Given the description of an element on the screen output the (x, y) to click on. 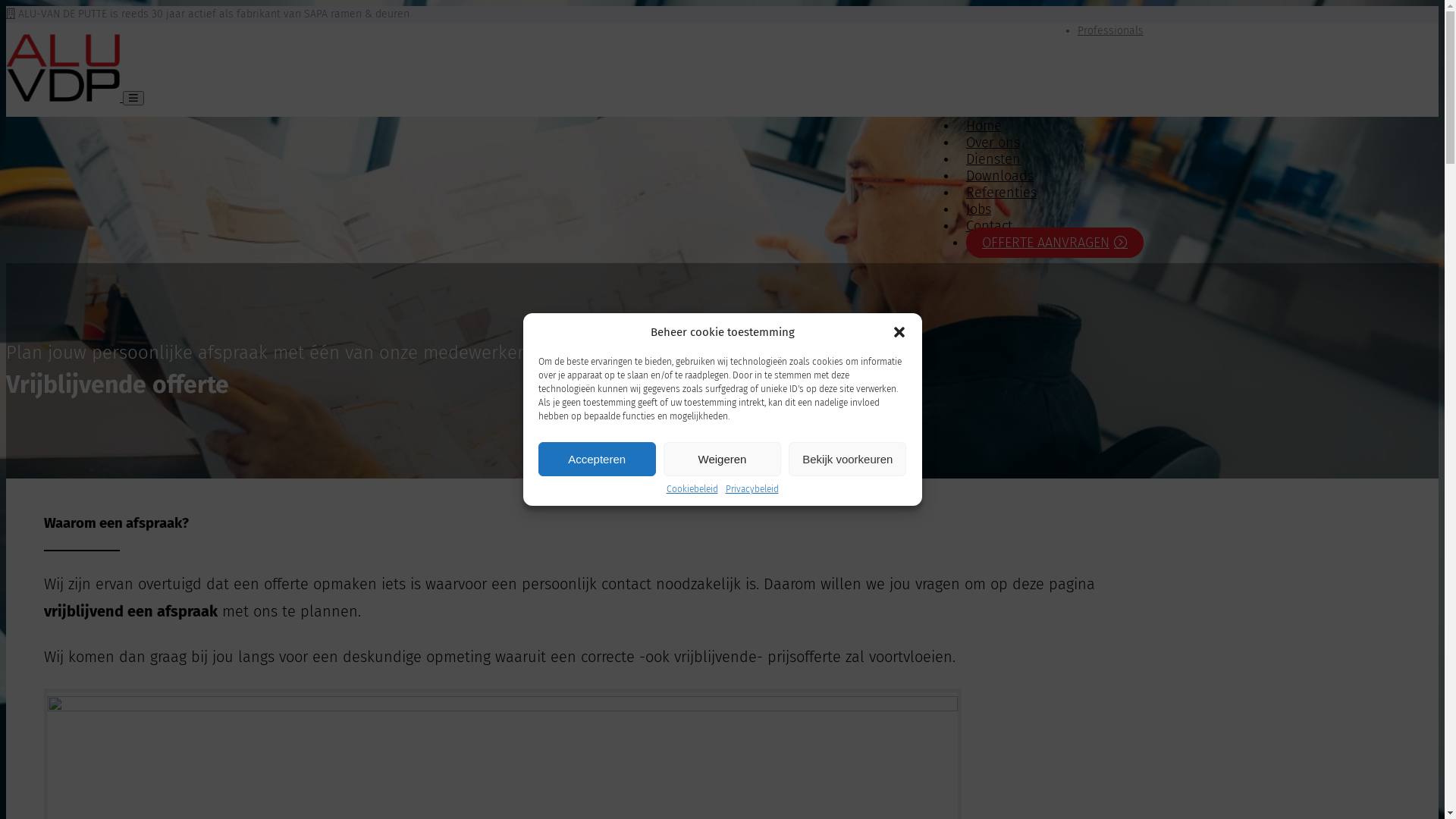
OFFERTE AANVRAGEN Element type: text (1054, 242)
ALU Van De Putte BV Element type: text (64, 97)
Weigeren Element type: text (722, 459)
Home Element type: text (983, 125)
Accepteren Element type: text (596, 459)
Privacybeleid Element type: text (751, 488)
Professionals Element type: text (1110, 30)
Downloads Element type: text (999, 175)
Diensten Element type: text (993, 158)
Bekijk voorkeuren Element type: text (847, 459)
Jobs Element type: text (978, 208)
Referenties Element type: text (1001, 192)
Over ons Element type: text (993, 142)
Contact Element type: text (989, 225)
Cookiebeleid Element type: text (691, 488)
